Given the description of an element on the screen output the (x, y) to click on. 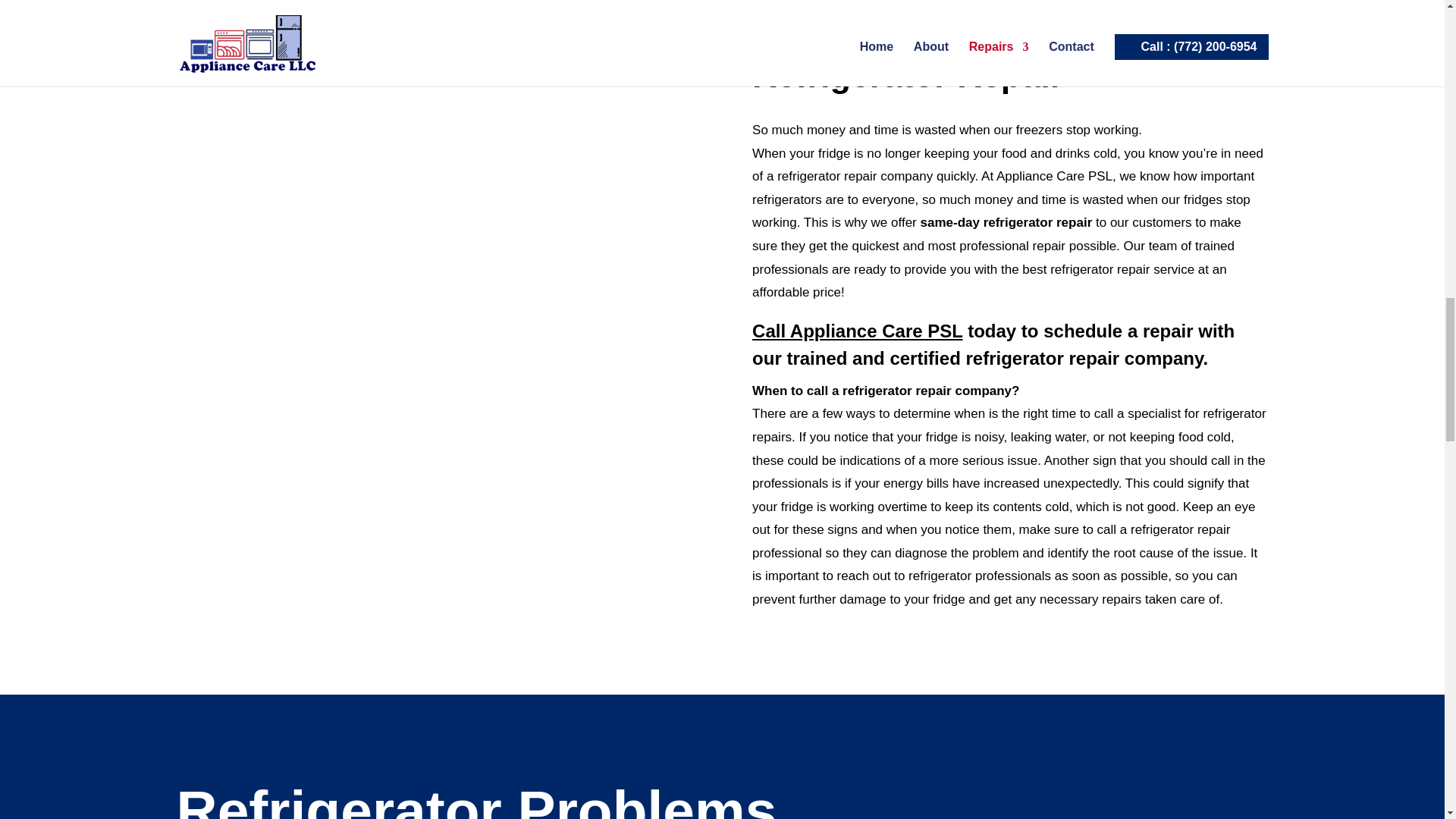
refrigeratorthree (511, 420)
refrigeratorone-min (304, 256)
fridge-repair (563, 162)
Call Appliance Care PSL (857, 331)
